Given the description of an element on the screen output the (x, y) to click on. 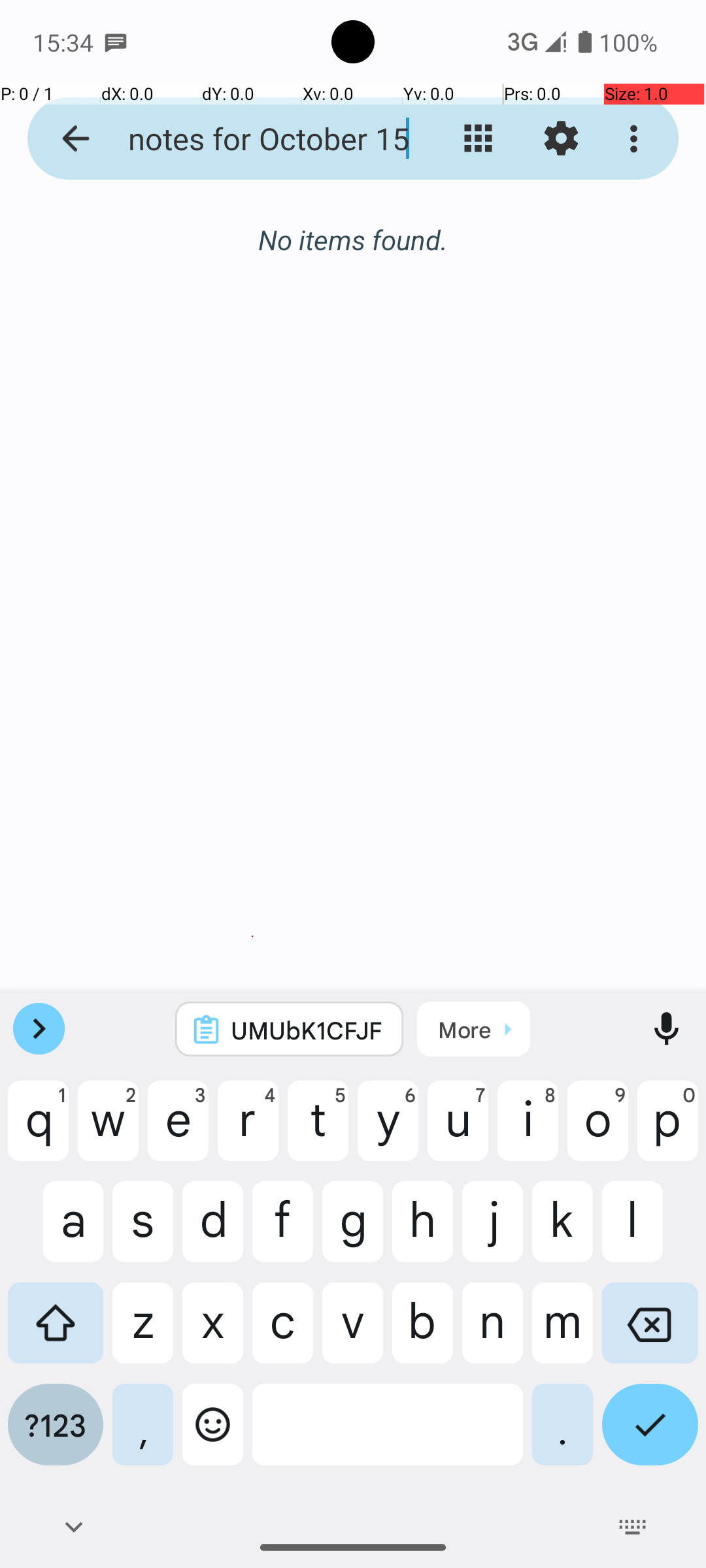
Meeting notes for October 15 Element type: android.widget.EditText (252, 138)
